Given the description of an element on the screen output the (x, y) to click on. 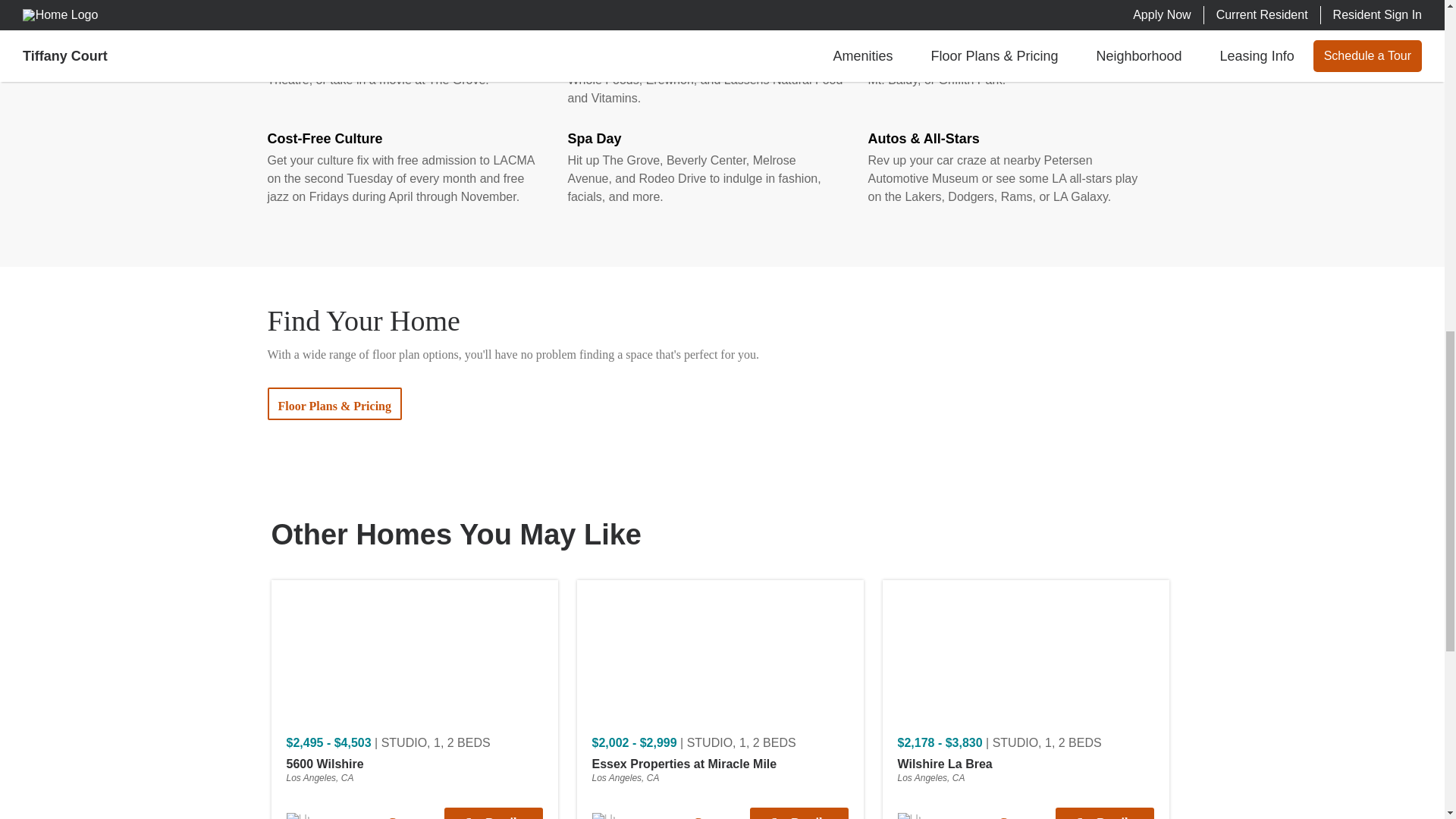
See Details (493, 813)
Contact (407, 813)
